Given the description of an element on the screen output the (x, y) to click on. 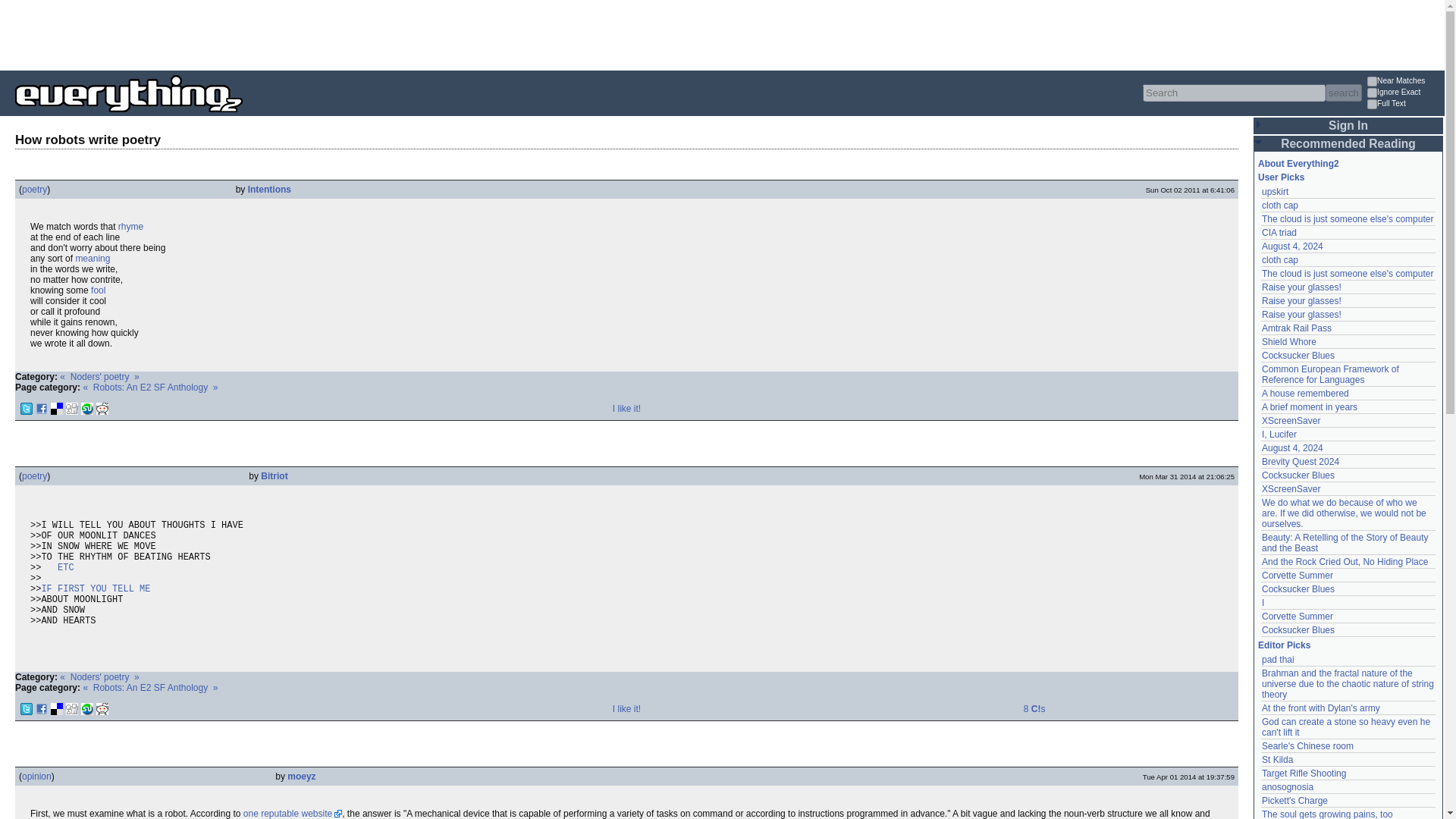
8 C!s (1034, 708)
1 (1372, 103)
ETC (66, 567)
rhyme (129, 226)
Digg (71, 408)
I'm the idiot to your poetry (97, 290)
Facebook (41, 408)
Words Have No Meaning (92, 258)
Robots: An E2 SF Anthology (150, 387)
Search within Everything2 (1342, 92)
Everything (242, 117)
Search for text within writeups (1404, 104)
rhyme scheme (129, 226)
I like it! (626, 408)
poetry (33, 189)
